Given the description of an element on the screen output the (x, y) to click on. 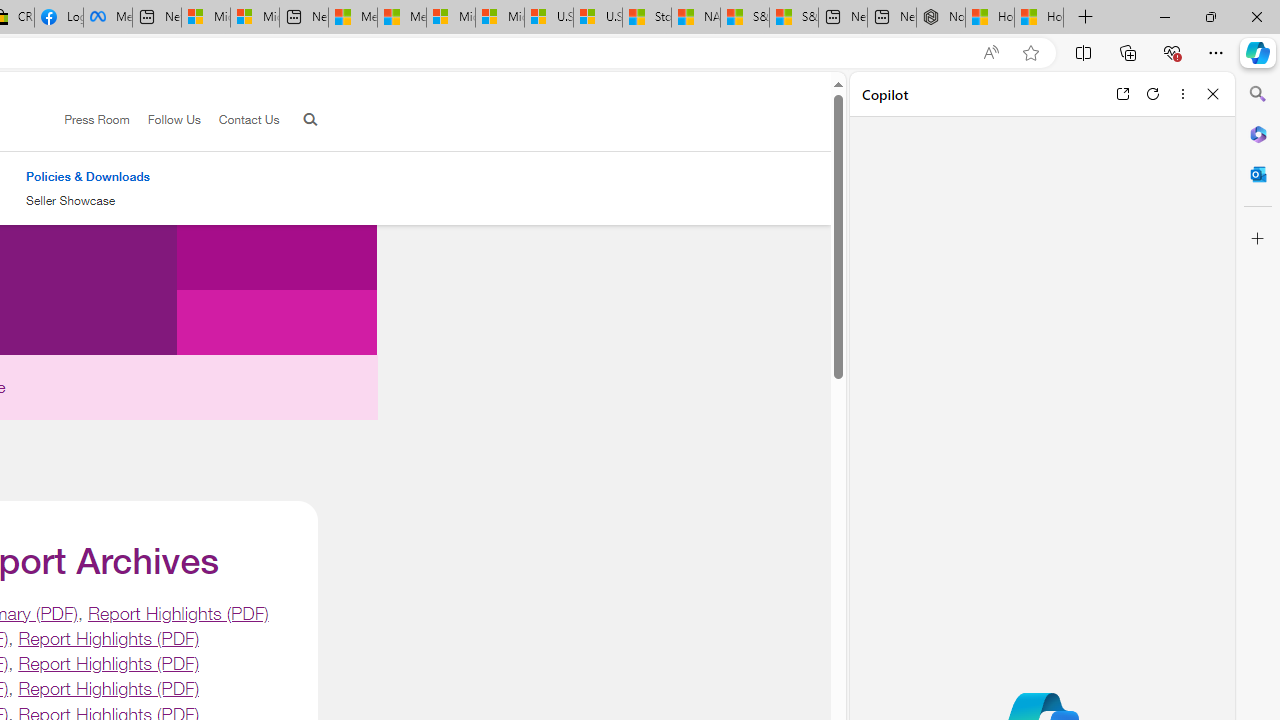
Outlook (1258, 174)
Seller Showcase (70, 200)
How to Use a Monitor With Your Closed Laptop (1039, 17)
Seller Showcase (88, 201)
Log into Facebook (58, 17)
Press Room (97, 119)
